Given the description of an element on the screen output the (x, y) to click on. 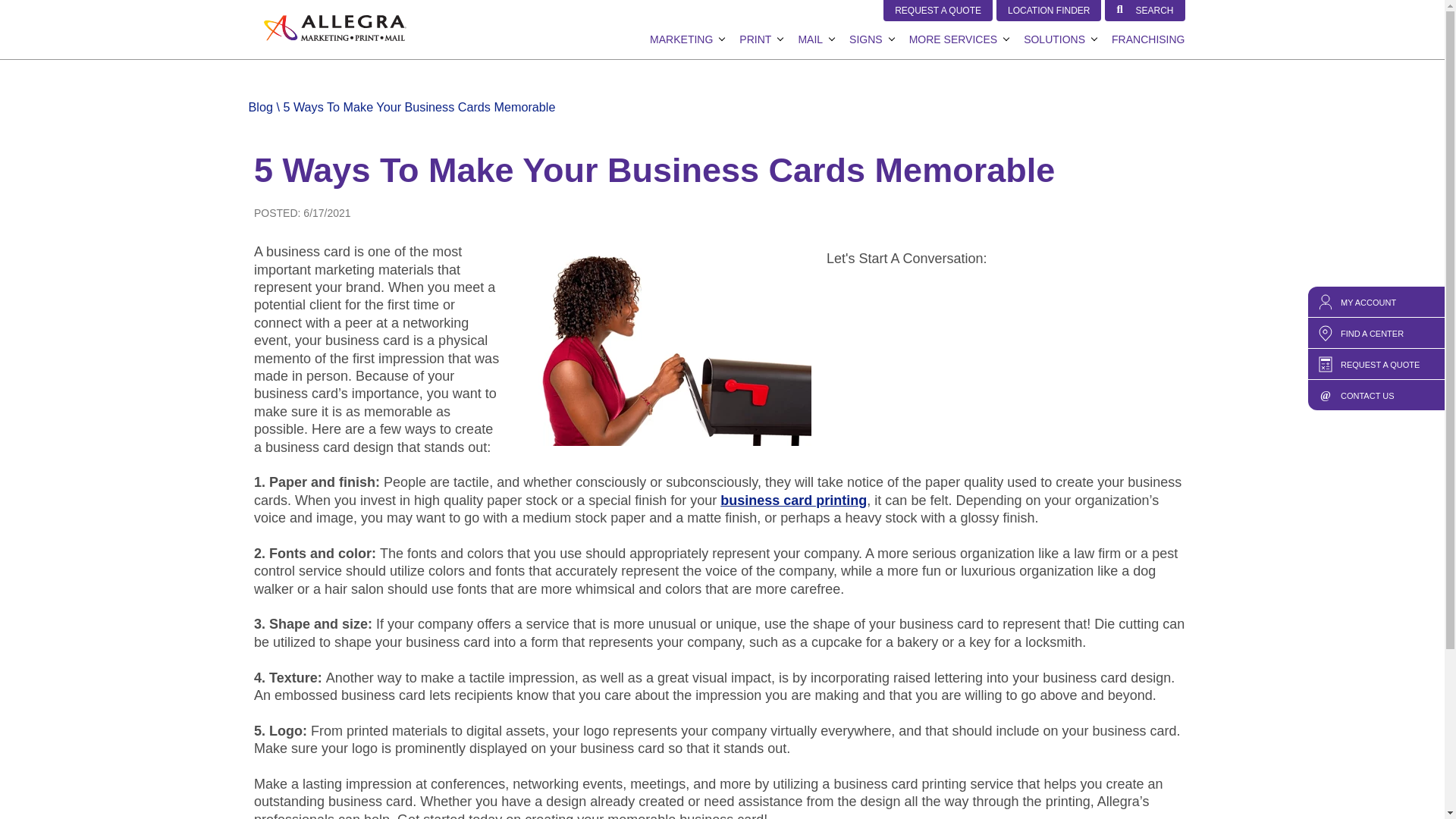
MARKETING (681, 39)
PRINT (755, 39)
LOCATION FINDER (1047, 10)
REQUEST A QUOTE (937, 10)
SEARCH (1145, 10)
